Given the description of an element on the screen output the (x, y) to click on. 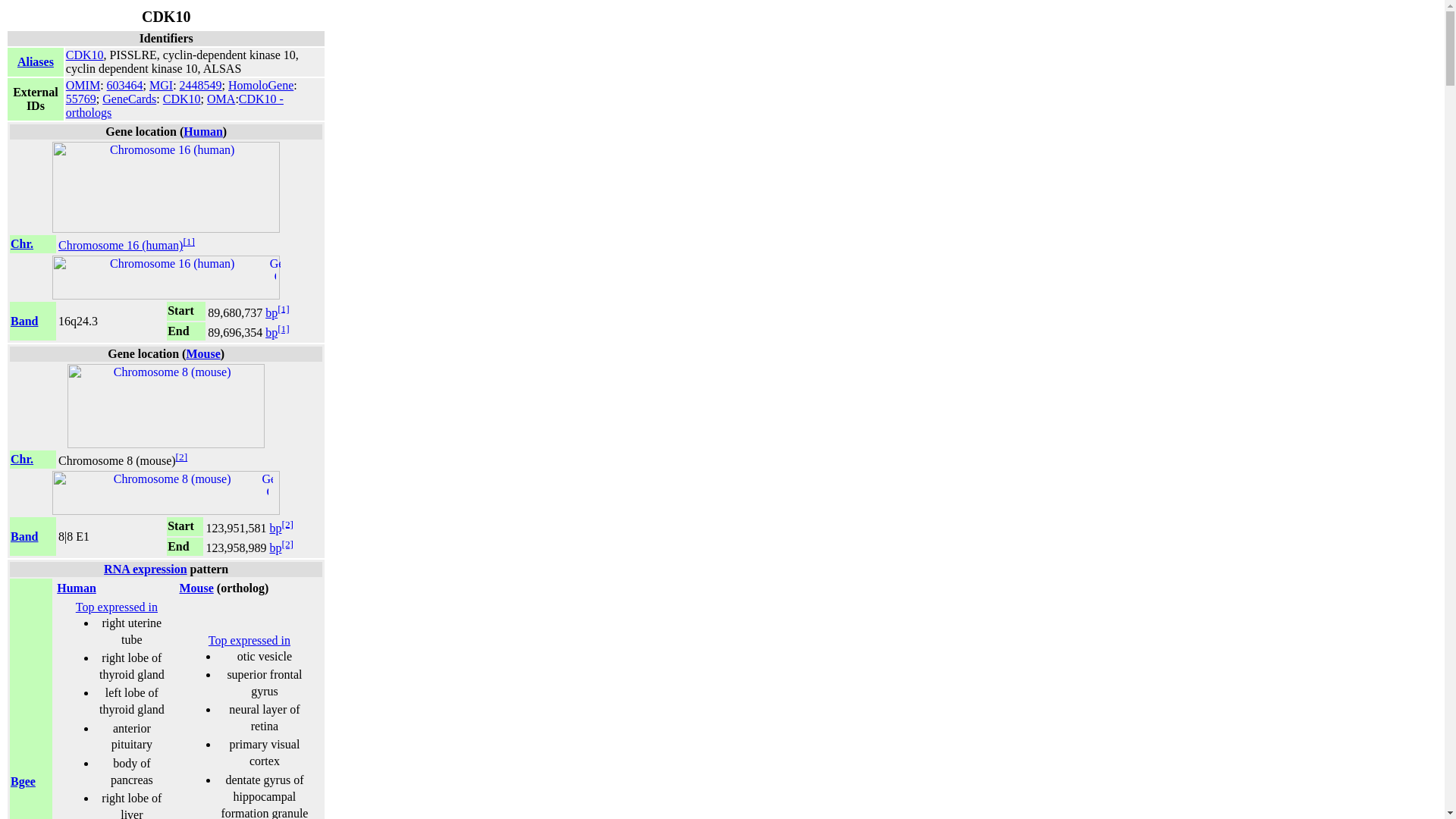
Human (202, 131)
CDK10 (181, 98)
603464 (124, 84)
CDK10 (84, 54)
Chr. (21, 459)
Base pair (271, 312)
HomoloGene (261, 84)
Chr. (21, 243)
RNA expression (145, 568)
MGI (161, 84)
